Given the description of an element on the screen output the (x, y) to click on. 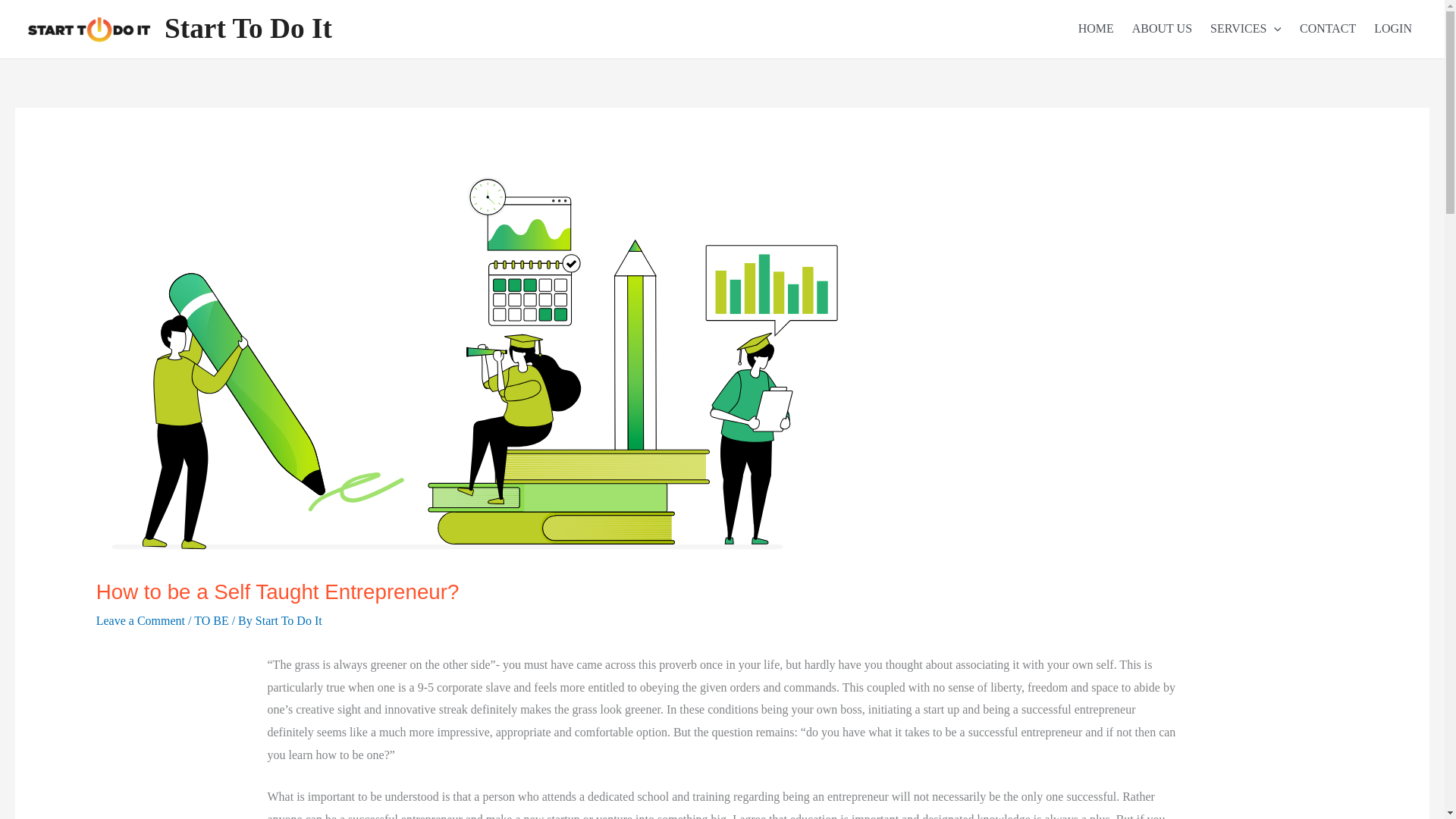
Start To Do It (247, 28)
TO BE (210, 620)
ABOUT US (1158, 29)
SERVICES (1242, 29)
HOME (1092, 29)
View all posts by Start To Do It (288, 620)
LOGIN (1389, 29)
Leave a Comment (140, 620)
CONTACT (1324, 29)
Start To Do It (288, 620)
